Given the description of an element on the screen output the (x, y) to click on. 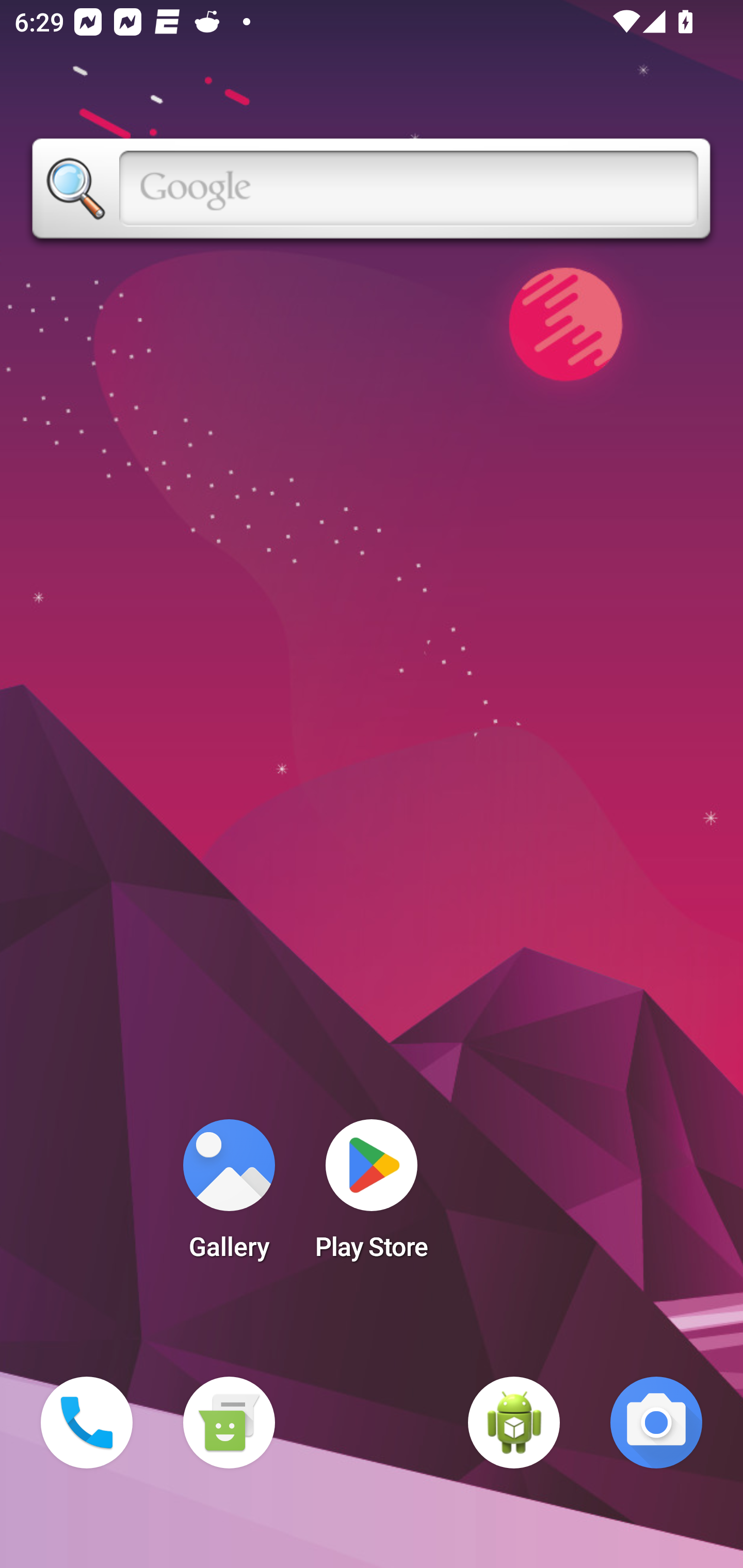
Gallery (228, 1195)
Play Store (371, 1195)
Phone (86, 1422)
Messaging (228, 1422)
WebView Browser Tester (513, 1422)
Camera (656, 1422)
